Given the description of an element on the screen output the (x, y) to click on. 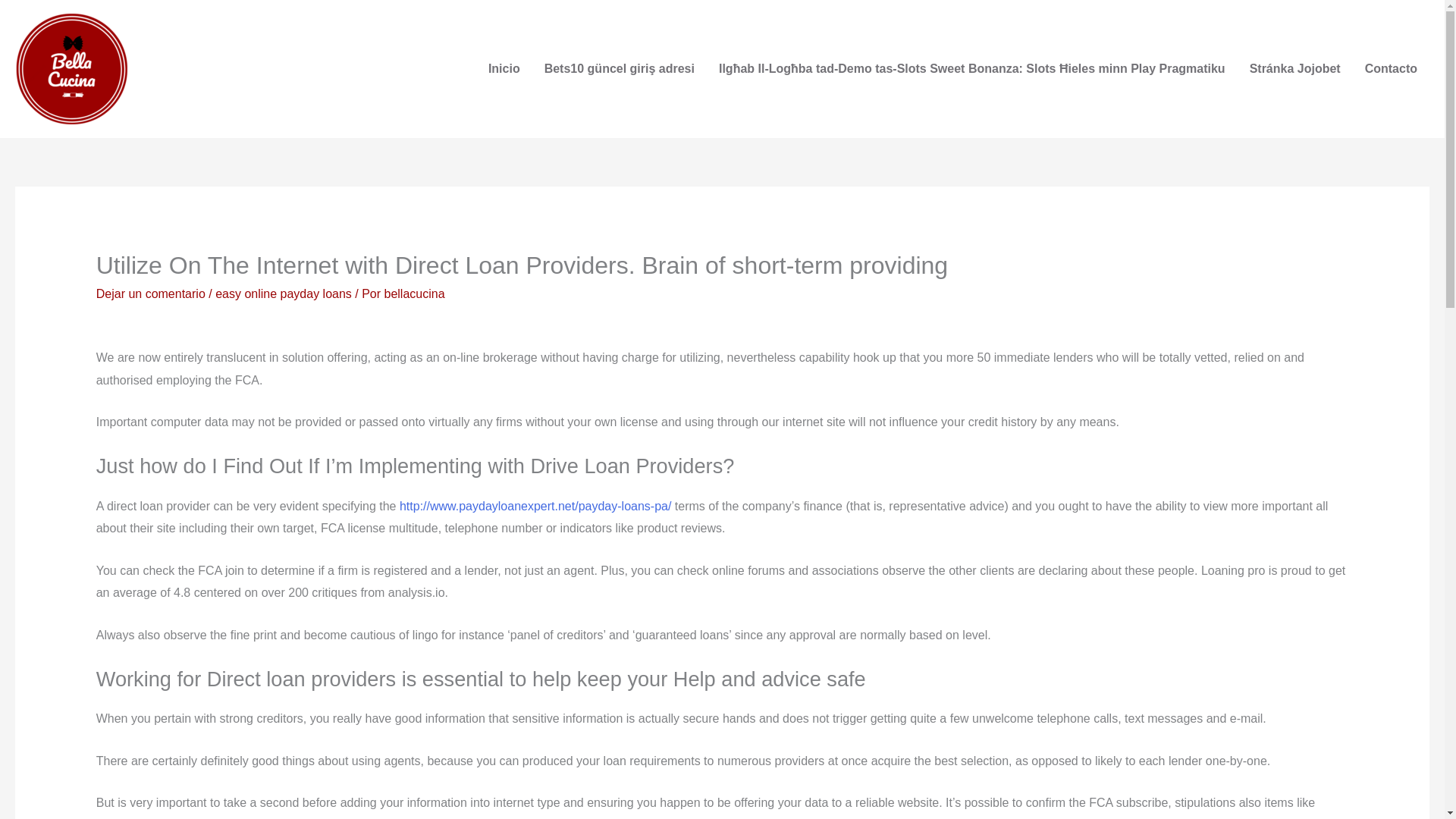
Dejar un comentario (150, 293)
Ver todas las entradas de bellacucina (414, 293)
bellacucina (414, 293)
easy online payday loans (283, 293)
